Given the description of an element on the screen output the (x, y) to click on. 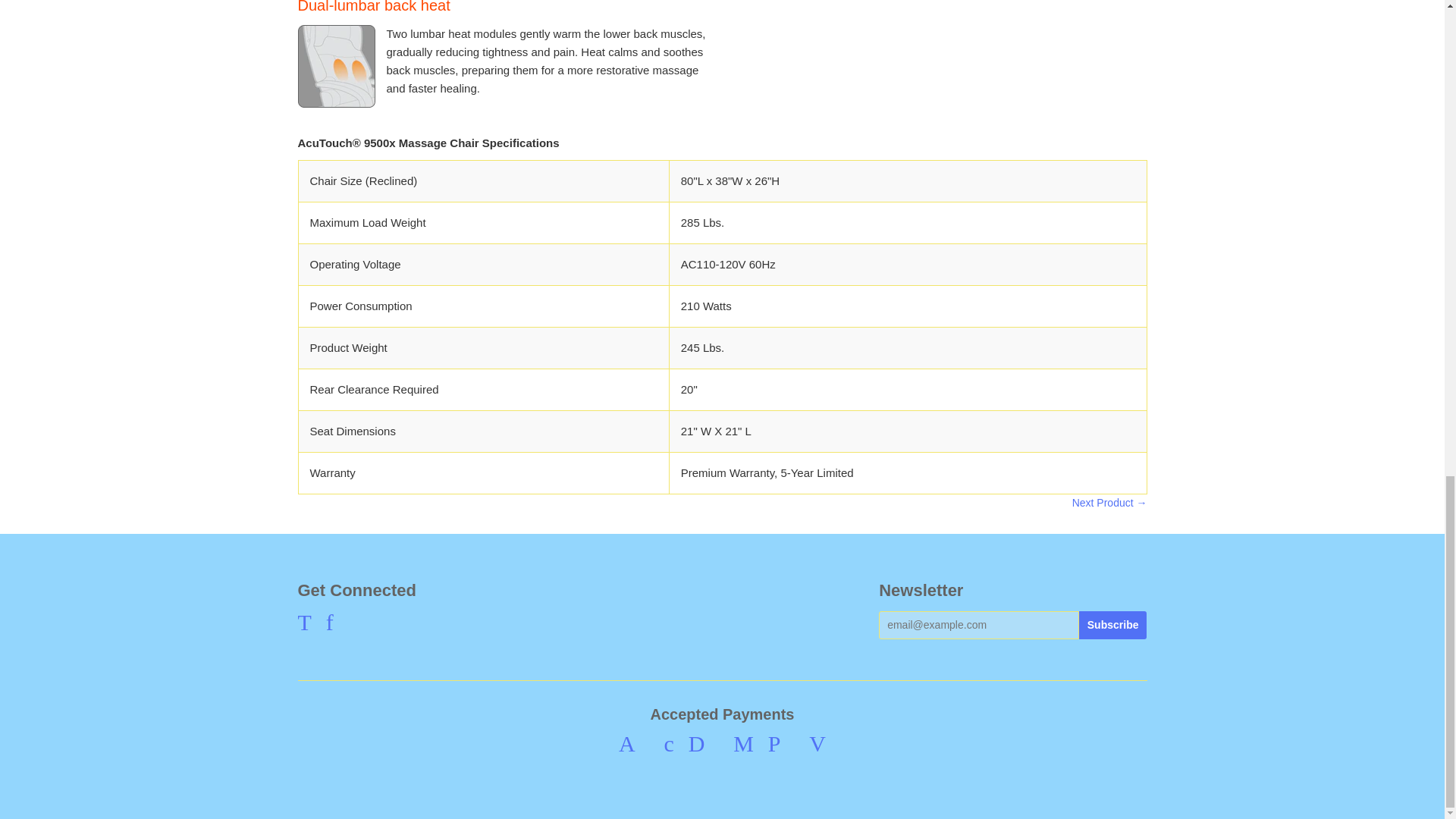
Subscribe (1112, 624)
